Given the description of an element on the screen output the (x, y) to click on. 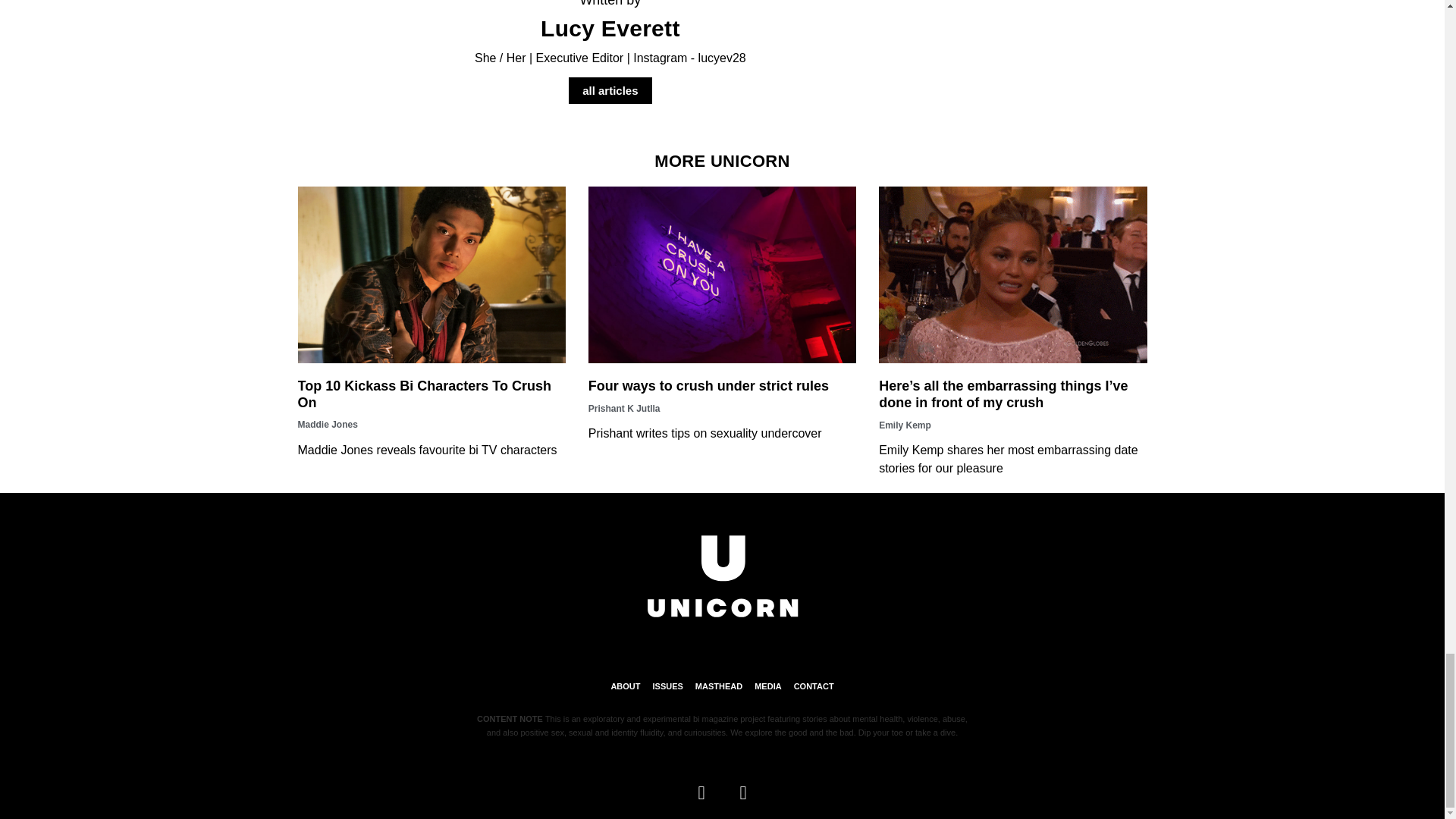
Top 10 Kickass Bi Characters To Crush On (423, 394)
all articles (609, 90)
ABOUT (625, 686)
MEDIA (767, 686)
MASTHEAD (718, 686)
CONTACT (813, 686)
Four ways to crush under strict rules (708, 385)
ISSUES (667, 686)
